Given the description of an element on the screen output the (x, y) to click on. 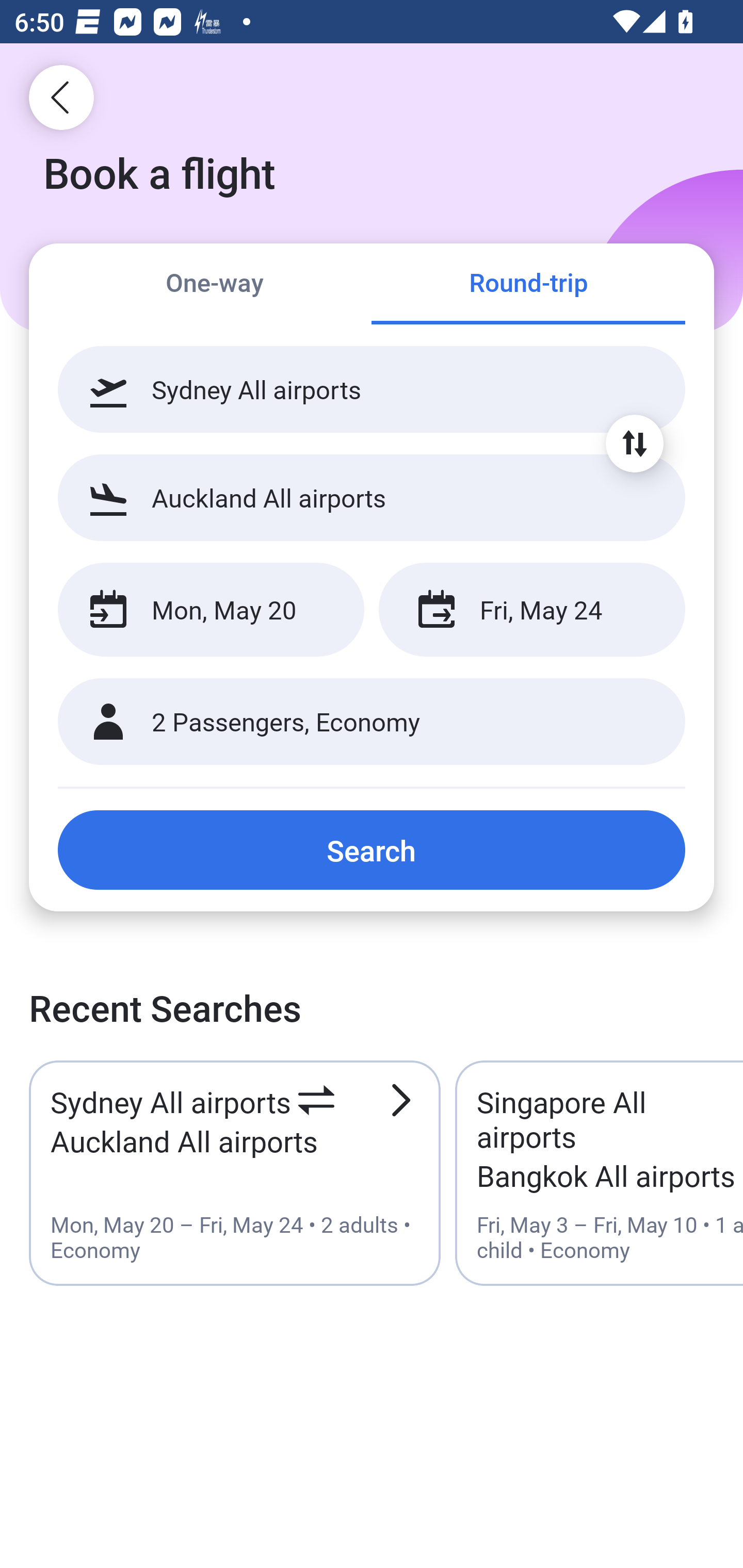
One-way (214, 284)
Sydney All airports (371, 389)
Auckland All airports (371, 497)
Mon, May 20 (210, 609)
Fri, May 24 (531, 609)
2 Passengers, Economy (371, 721)
Search (371, 849)
